Given the description of an element on the screen output the (x, y) to click on. 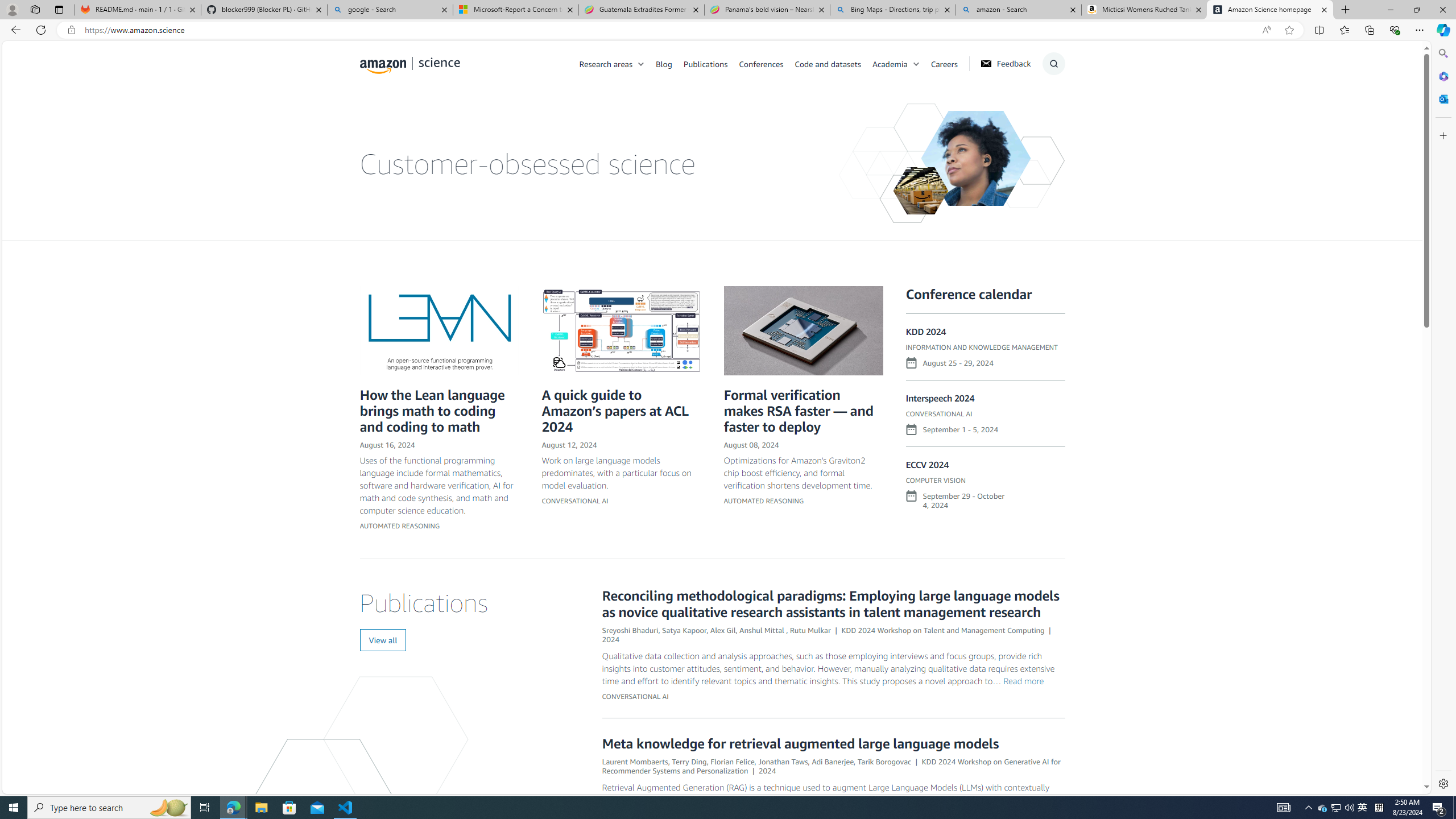
Careers (949, 63)
View all (382, 639)
Interspeech 2024CONVERSATIONAL AISeptember 1 - 5, 2024 (985, 419)
Jonathan Taws (783, 760)
